Given the description of an element on the screen output the (x, y) to click on. 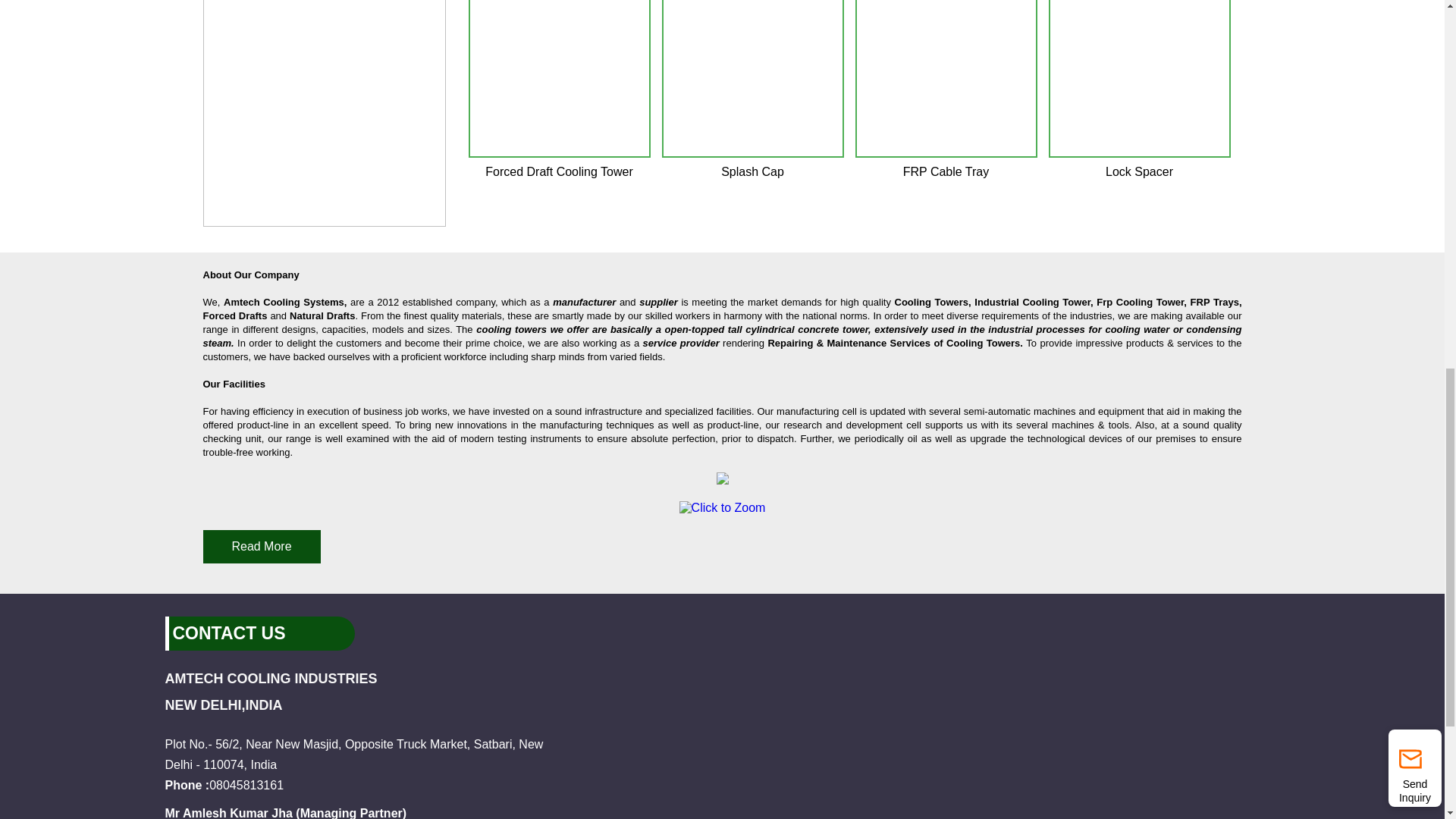
Forced Draft Cooling Tower (559, 78)
FRP Cable Tray (946, 78)
Splash Cap (751, 78)
Lock Spacer (1138, 78)
